Given the description of an element on the screen output the (x, y) to click on. 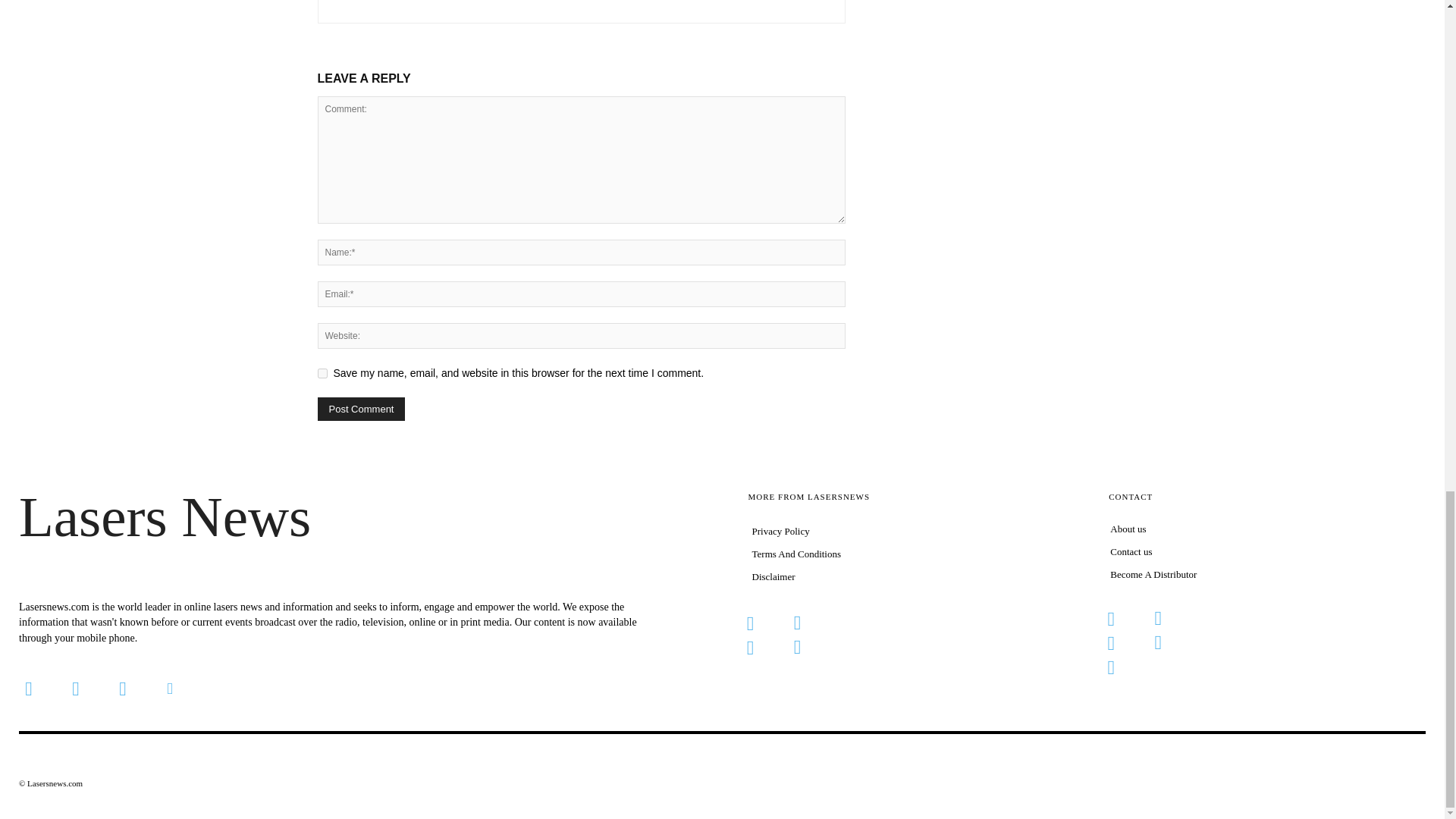
yes (321, 373)
Post Comment (360, 408)
